Given the description of an element on the screen output the (x, y) to click on. 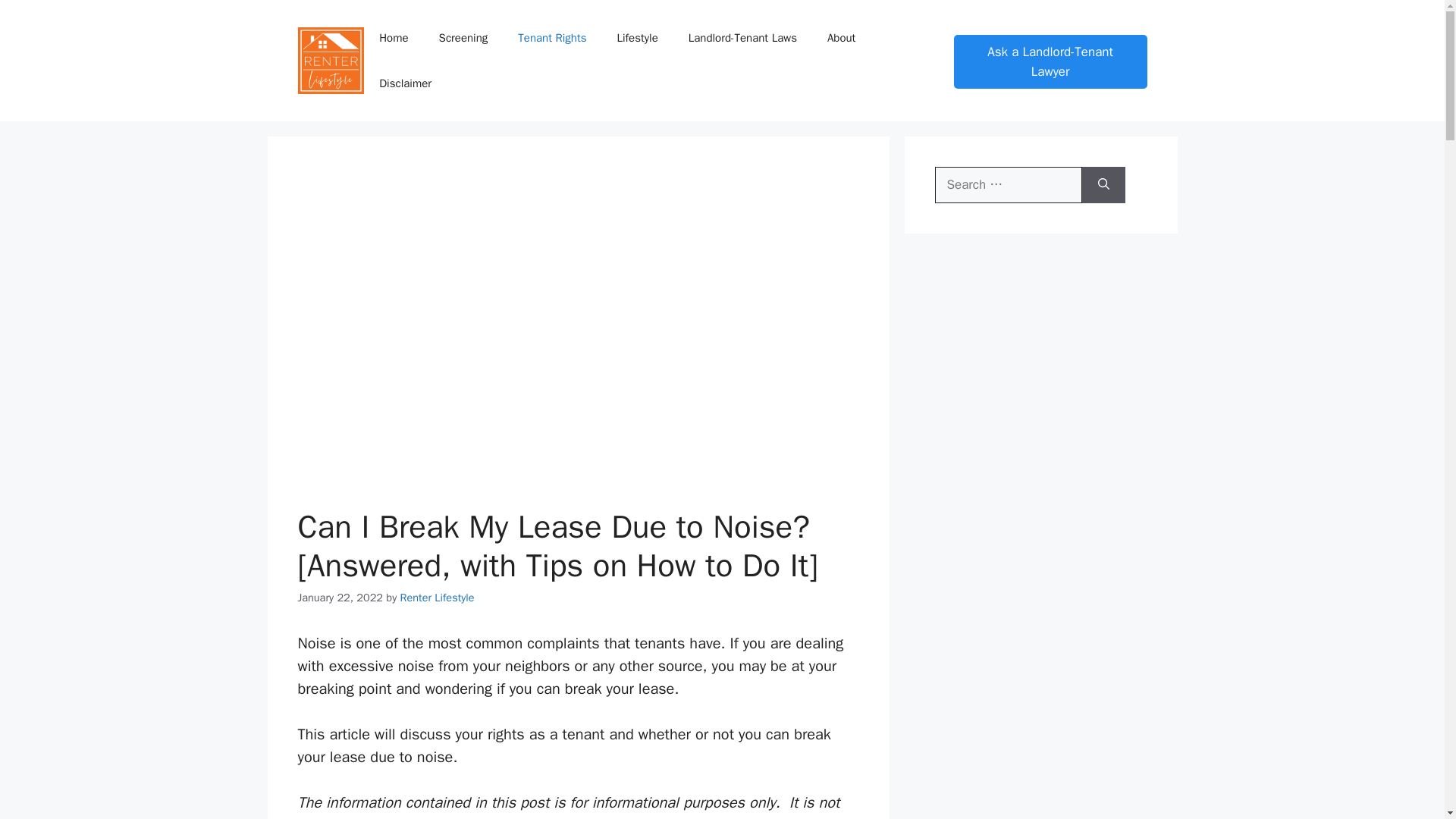
Landlord-Tenant Laws (742, 37)
Disclaimer (405, 83)
Screening (463, 37)
Ask a Landlord-Tenant Lawyer (1050, 61)
Renter Lifestyle (437, 597)
Home (393, 37)
Lifestyle (636, 37)
Search for: (1007, 185)
About (841, 37)
View all posts by Renter Lifestyle (437, 597)
